Given the description of an element on the screen output the (x, y) to click on. 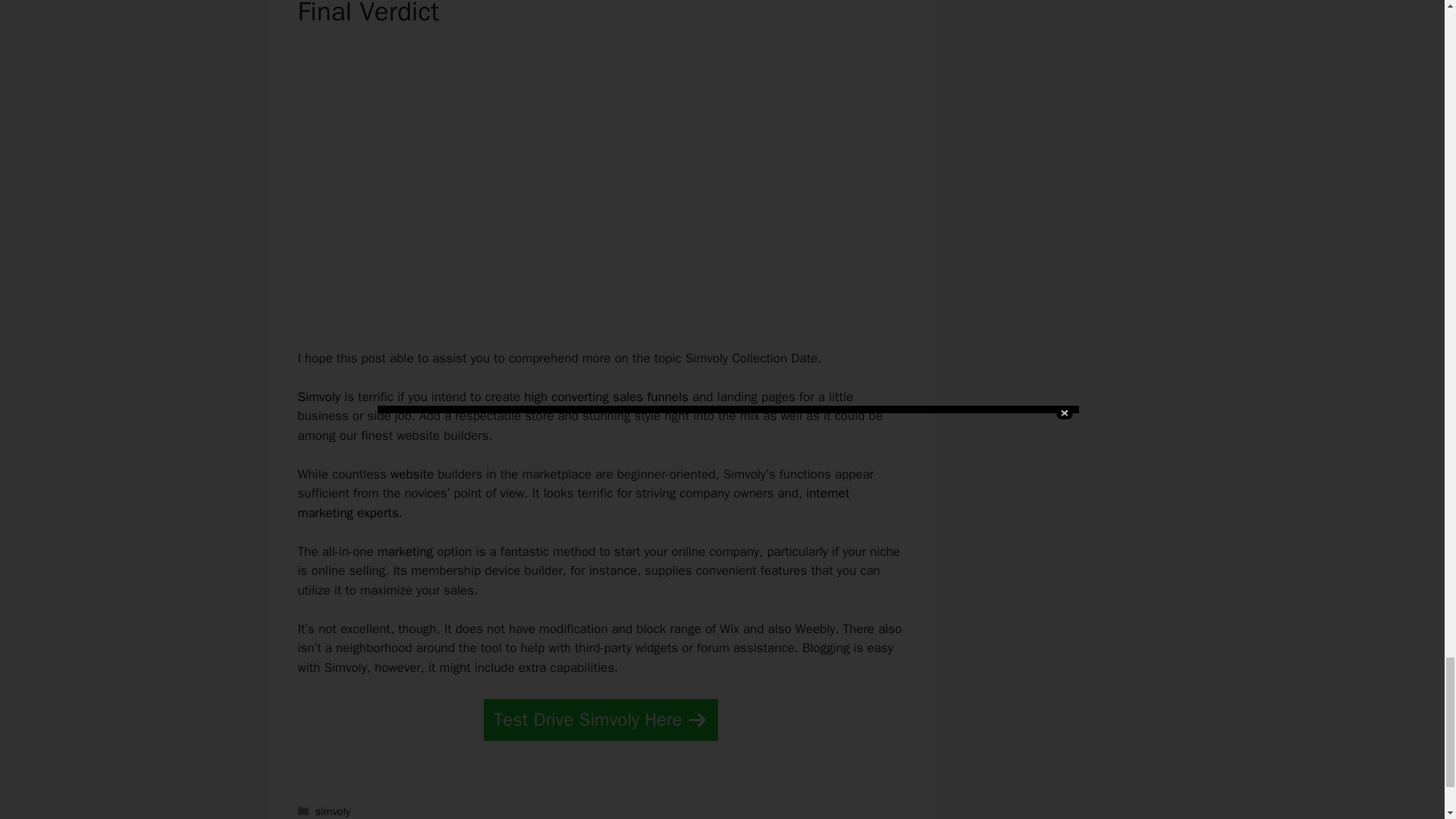
high converting sales funnels (606, 396)
simvoly (332, 811)
Simvoly (318, 396)
Test Drive Simvoly Here (600, 720)
marketing (404, 551)
internet marketing experts (572, 502)
website (411, 474)
